Given the description of an element on the screen output the (x, y) to click on. 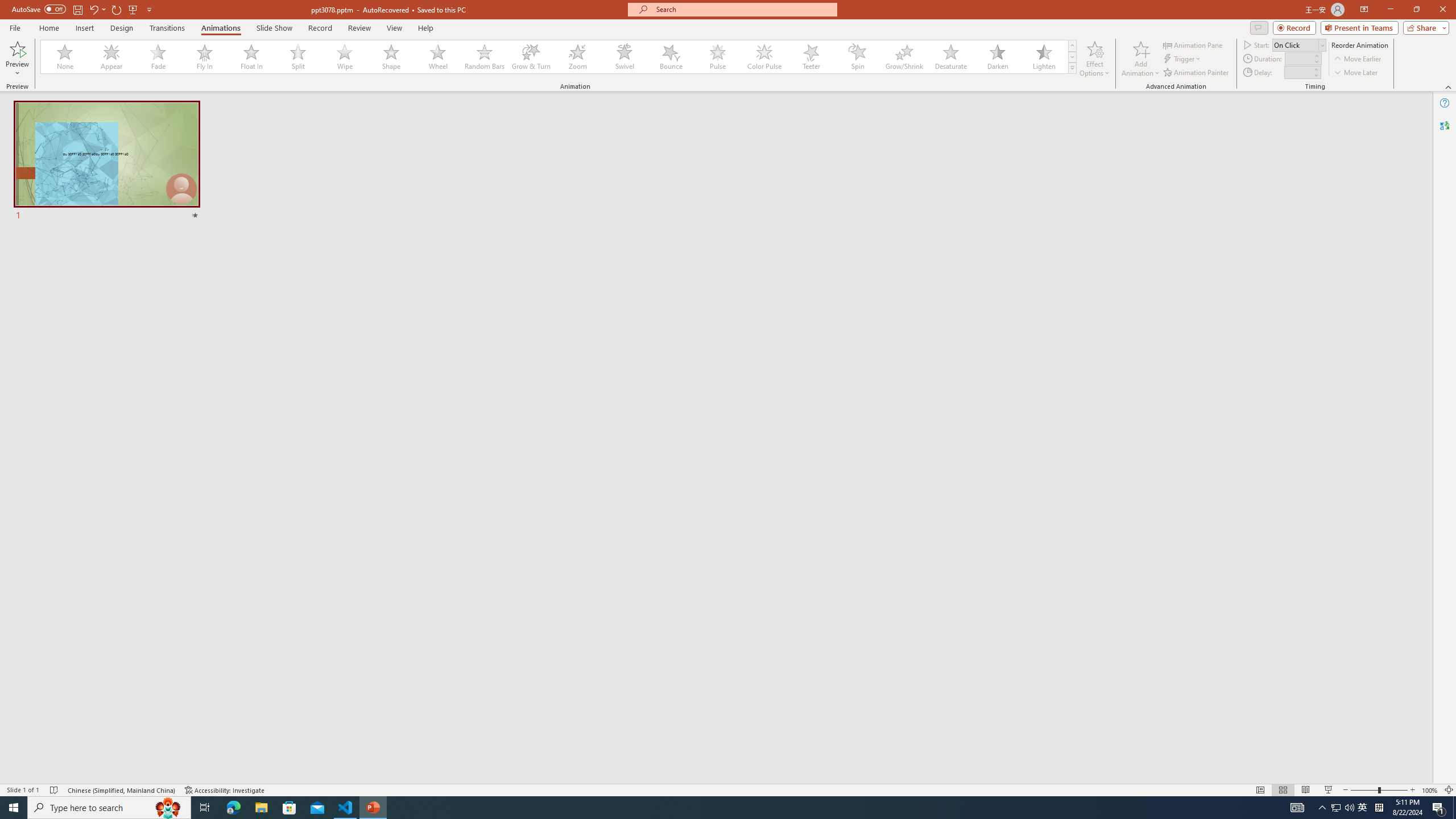
Animation Pane (1193, 44)
Pulse (717, 56)
Bounce (670, 56)
Add Animation (1141, 58)
Animation Delay (1297, 72)
Teeter (810, 56)
Grow & Turn (531, 56)
Move Later (1355, 72)
